Given the description of an element on the screen output the (x, y) to click on. 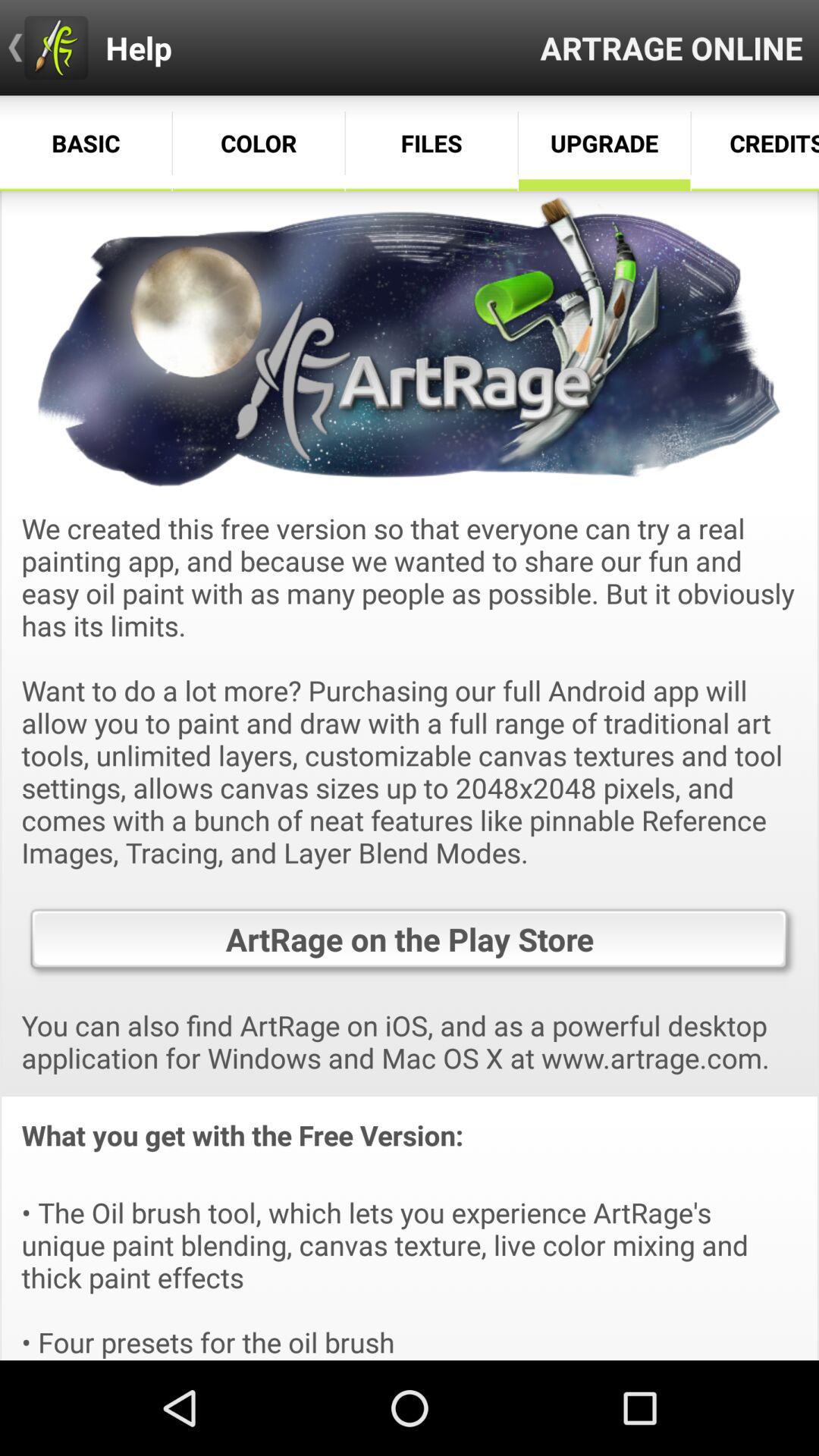
open artrage online icon (671, 47)
